Given the description of an element on the screen output the (x, y) to click on. 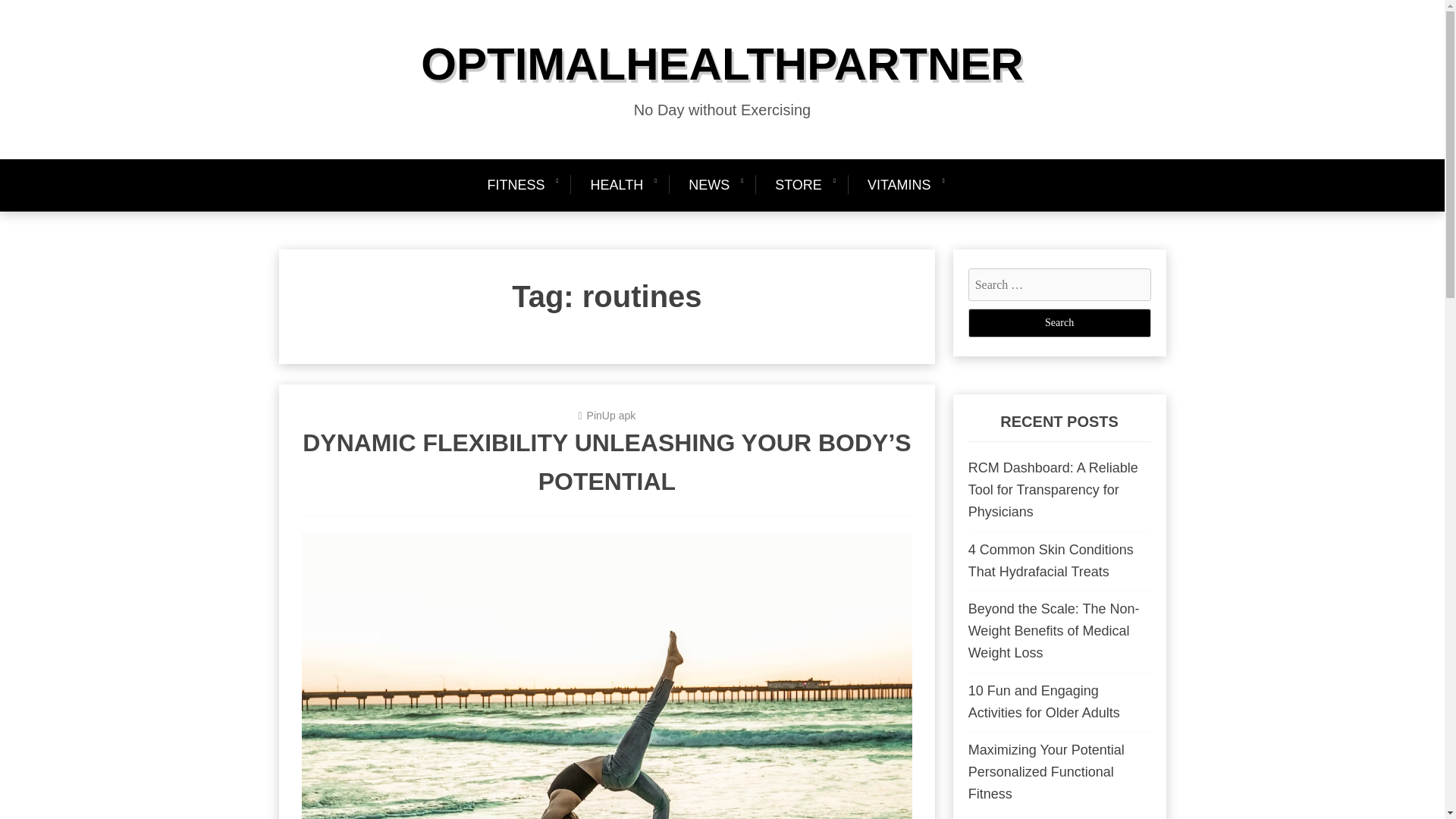
Maximizing Your Potential Personalized Functional Fitness (1046, 771)
Search (1059, 322)
Search (1059, 322)
NEWS (708, 184)
HEALTH (616, 184)
4 Common Skin Conditions That Hydrafacial Treats (1051, 560)
Search (1059, 322)
FITNESS (522, 184)
10 Fun and Engaging Activities for Older Adults (1043, 701)
